Given the description of an element on the screen output the (x, y) to click on. 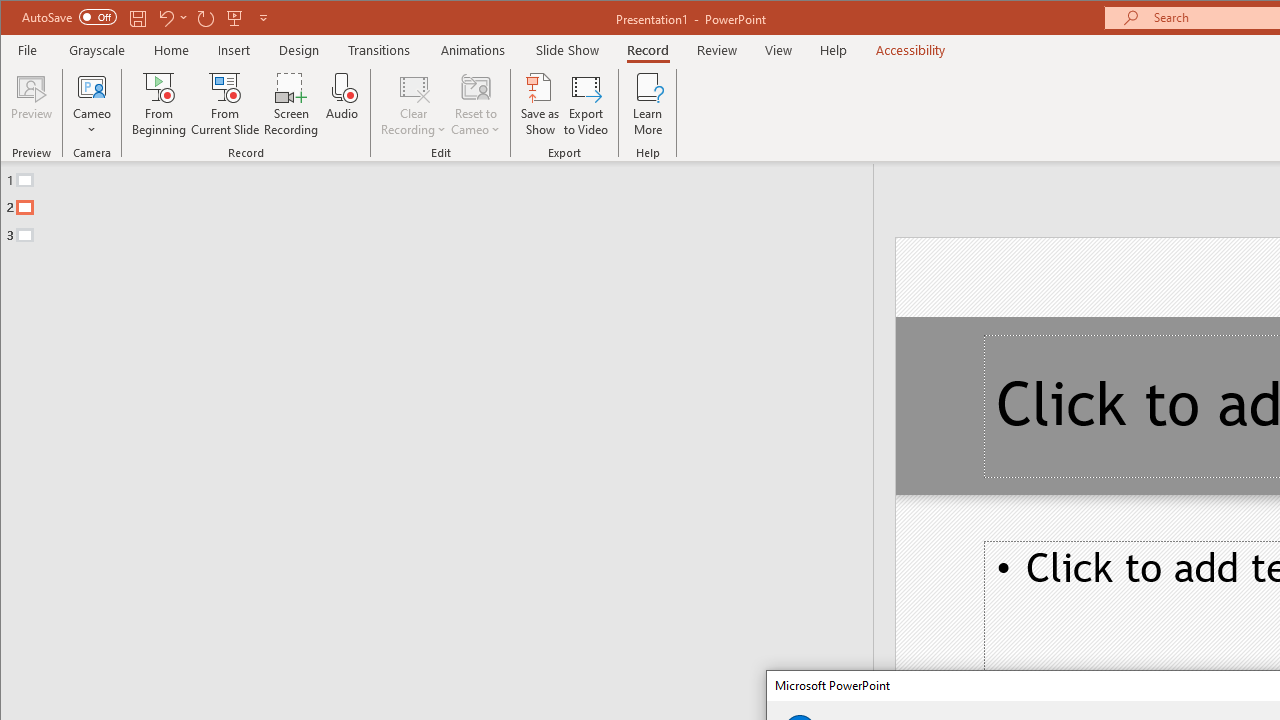
Clear Recording (413, 104)
From Current Slide... (225, 104)
Grayscale (97, 50)
Export to Video (585, 104)
